Given the description of an element on the screen output the (x, y) to click on. 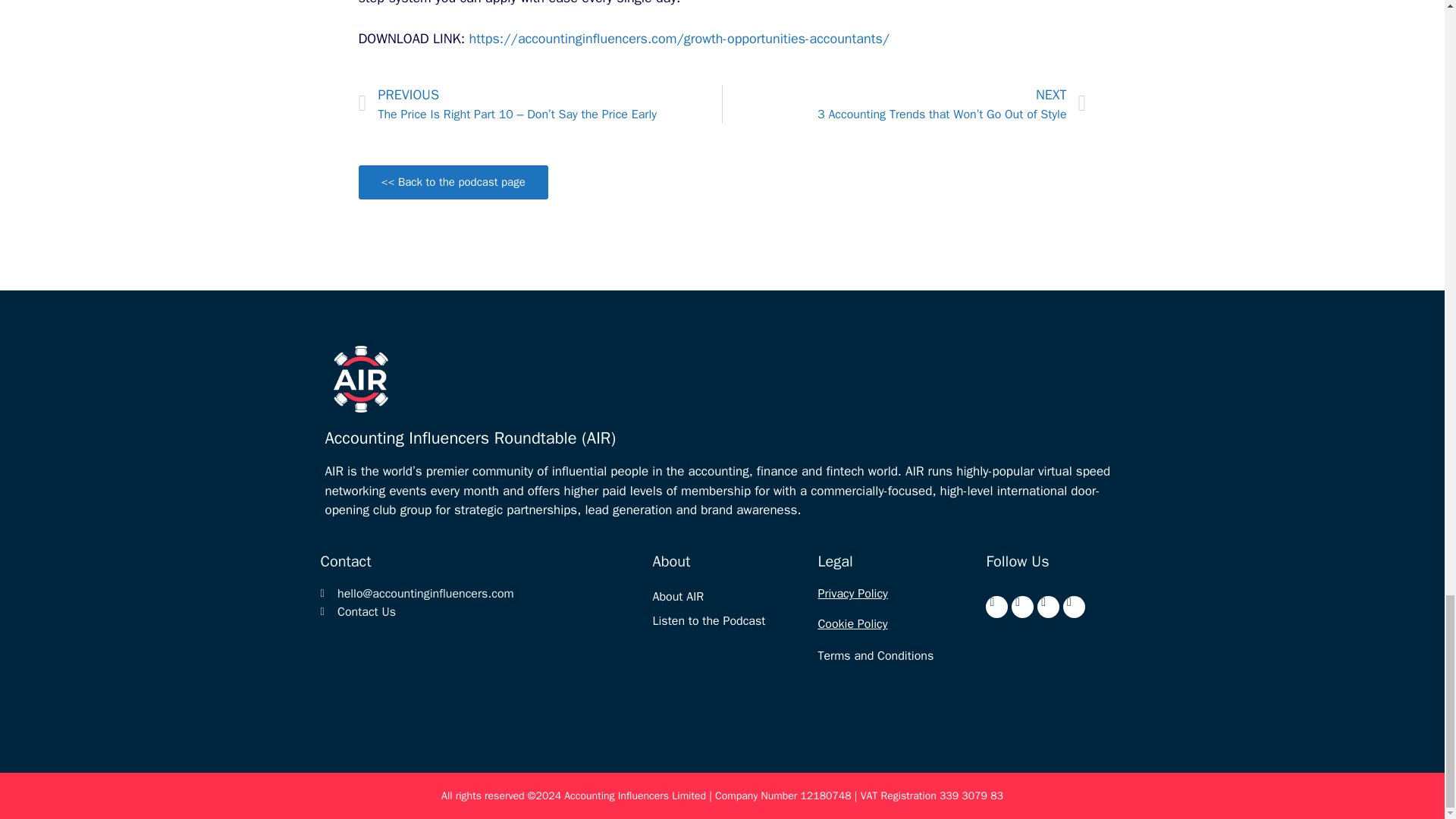
Cookie Policy (851, 623)
Terms and Conditions (874, 655)
Contact Us (478, 611)
Privacy Policy (851, 593)
About AIR (677, 596)
Listen to the Podcast (708, 620)
